Given the description of an element on the screen output the (x, y) to click on. 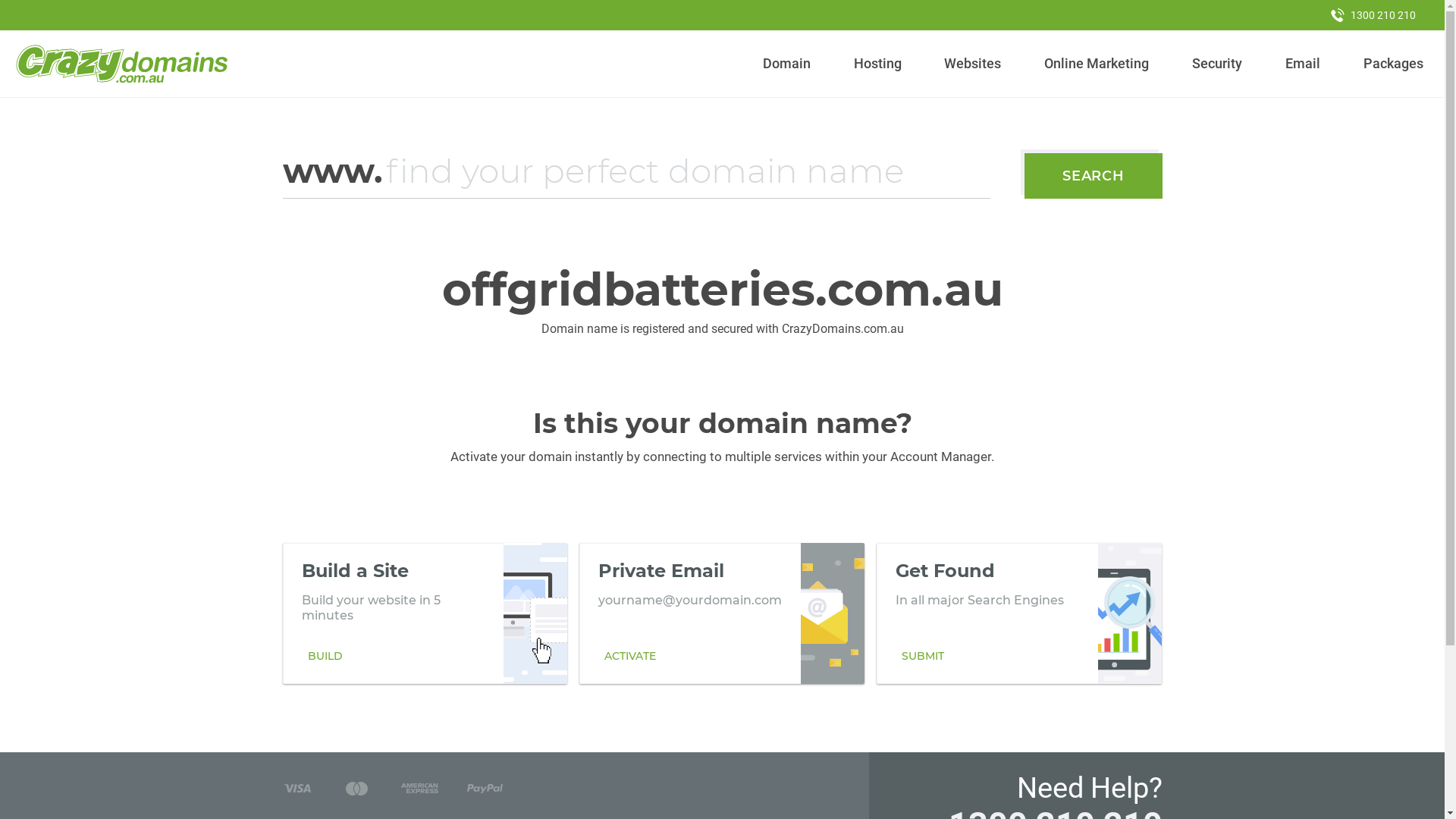
Websites Element type: text (972, 63)
Build a Site
Build your website in 5 minutes
BUILD Element type: text (424, 613)
Get Found
In all major Search Engines
SUBMIT Element type: text (1018, 613)
Online Marketing Element type: text (1096, 63)
Private Email
yourname@yourdomain.com
ACTIVATE Element type: text (721, 613)
1300 210 210 Element type: text (1373, 15)
SEARCH Element type: text (1092, 175)
Email Element type: text (1302, 63)
Hosting Element type: text (877, 63)
Packages Element type: text (1392, 63)
Domain Element type: text (786, 63)
Security Element type: text (1217, 63)
